Given the description of an element on the screen output the (x, y) to click on. 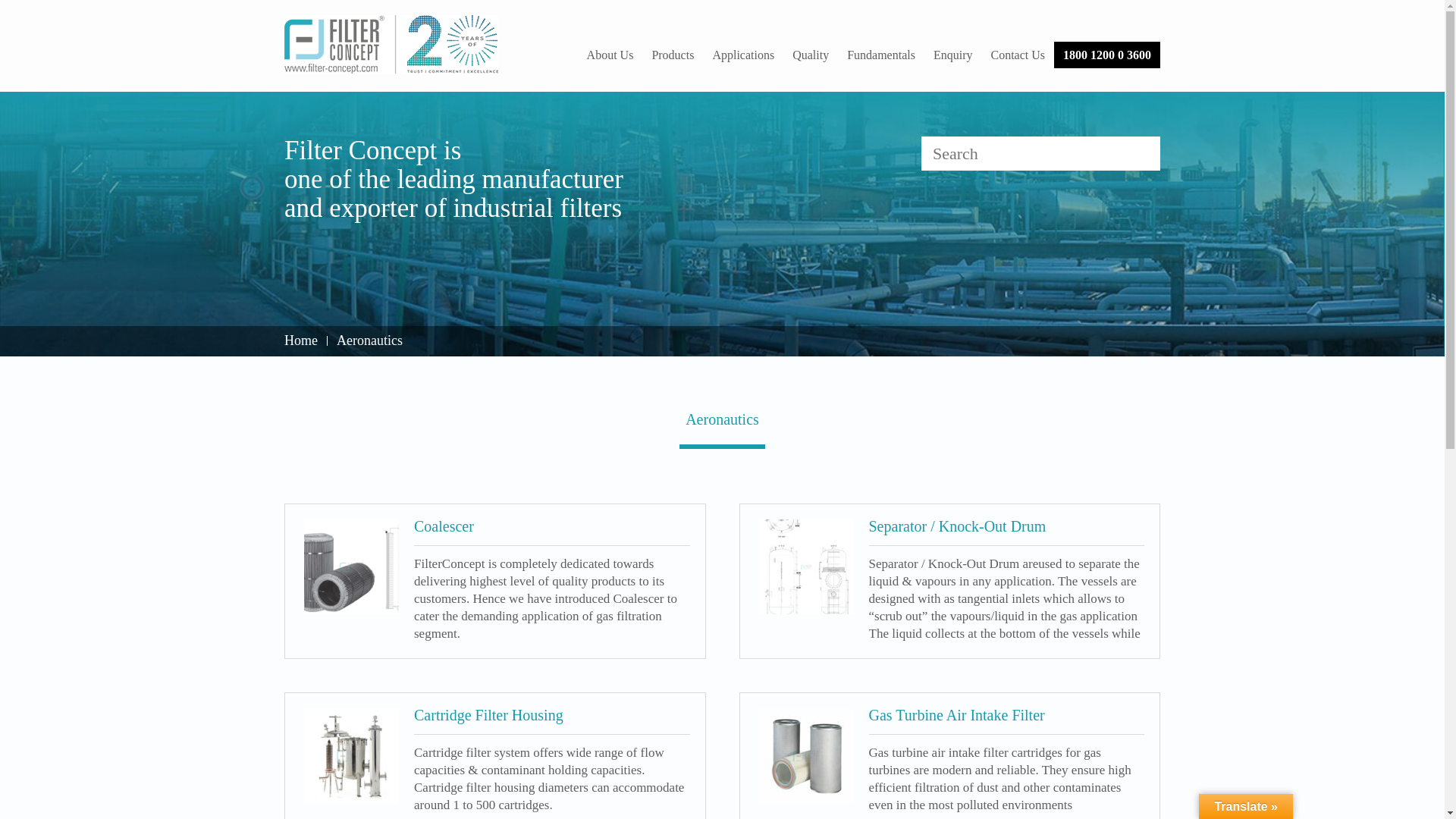
Products (672, 54)
Cartridge Filter Housing (351, 755)
About Us (610, 54)
testbtn (1142, 153)
Gas Turbine Air Intake Filter (805, 755)
Coalescer (351, 566)
Filter Concept (390, 44)
testbtn (1142, 153)
